Given the description of an element on the screen output the (x, y) to click on. 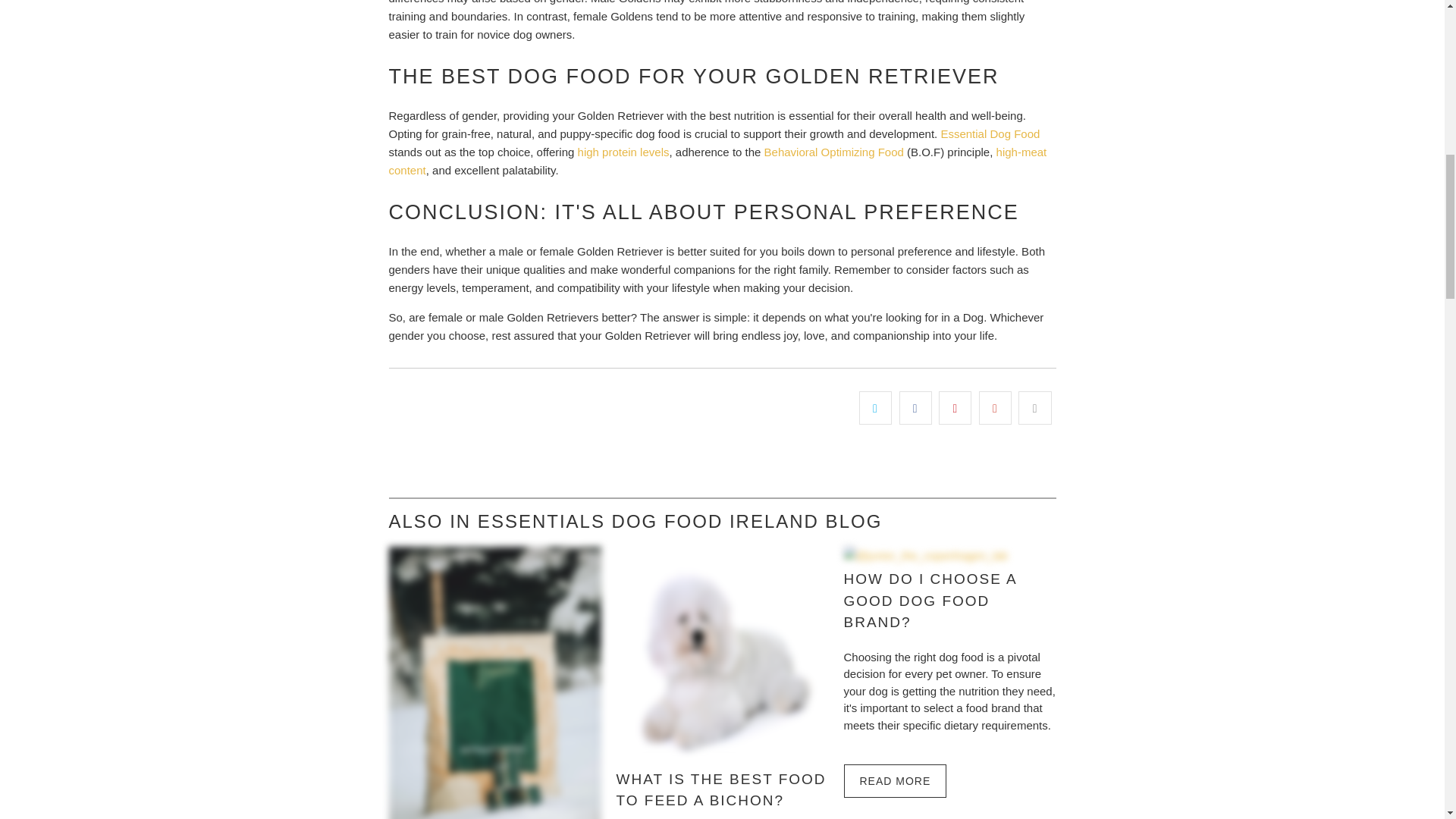
Share this on Facebook (915, 408)
Learn about B.O.F (834, 151)
Learn about the importance of high protein (623, 151)
Email this to a friend (1034, 408)
Read about the quality of meat in Essential Foods (717, 160)
View Essential Foods Home Page (989, 133)
Share this on Twitter (875, 408)
Share this on Pinterest (955, 408)
